Given the description of an element on the screen output the (x, y) to click on. 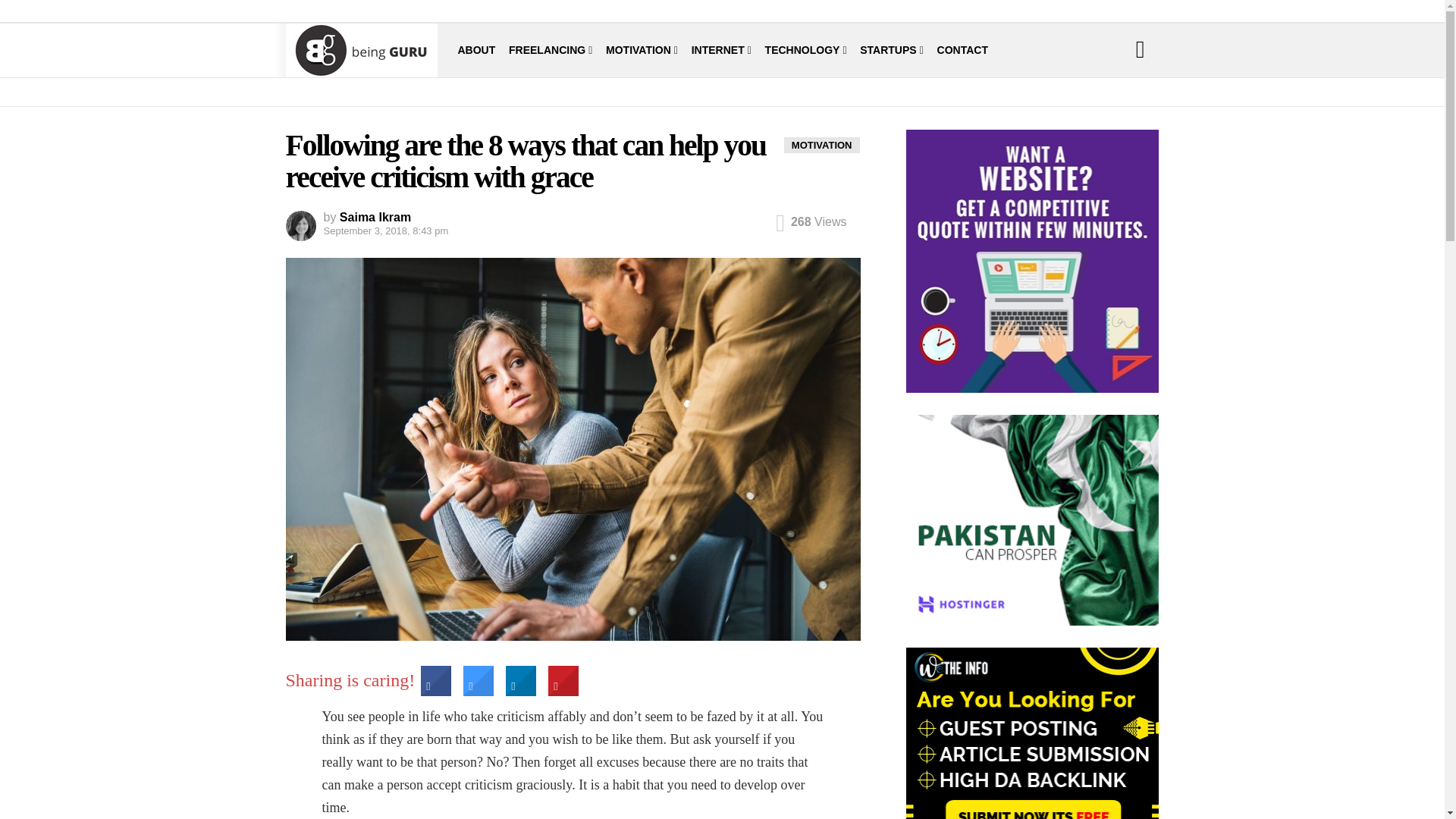
INTERNET (721, 49)
FREELANCING (550, 49)
TECHNOLOGY (806, 49)
ABOUT (477, 49)
STARTUPS (891, 49)
Posts by Saima Ikram (374, 216)
MOTIVATION (641, 49)
